Given the description of an element on the screen output the (x, y) to click on. 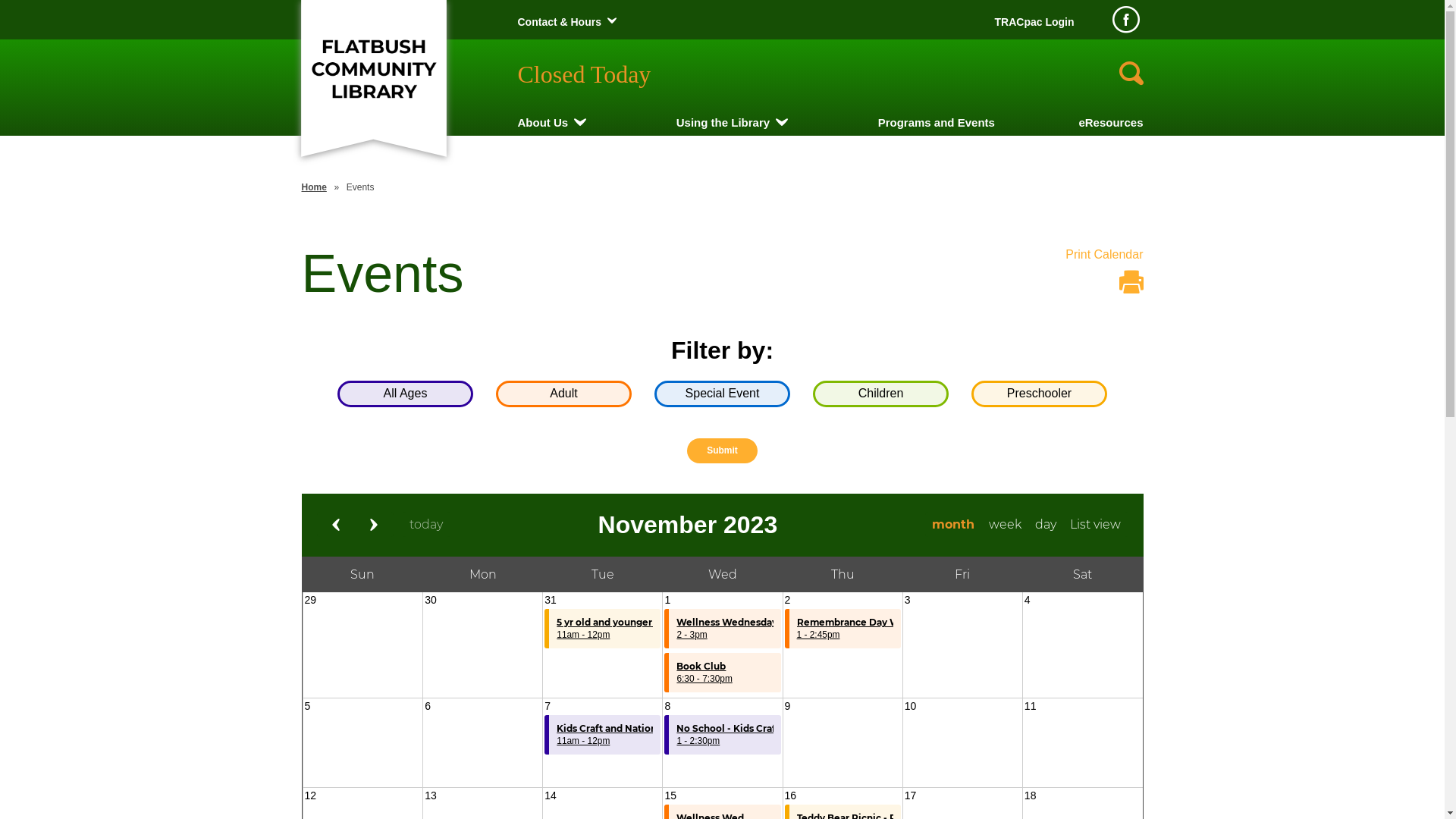
day Element type: text (1045, 524)
All Ages Element type: text (405, 393)
Facebook Element type: hover (1125, 19)
Kids Craft and National Hug A Bear Day
11am - 12pm Element type: text (602, 734)
Preschooler Element type: text (1039, 393)
today Element type: text (426, 524)
Flatbush Community Library Element type: hover (372, 69)
5 yr old and younger Storytime, play crafts
11am - 12pm Element type: text (602, 628)
eResources Element type: text (1110, 122)
Book Club
6:30 - 7:30pm Element type: text (722, 672)
Using the Library Element type: text (722, 122)
week Element type: text (1004, 524)
About Us Element type: text (542, 122)
Home Element type: text (313, 187)
Print Calendar Element type: text (1103, 273)
Wellness Wednesday Sit and Be Fit
2 - 3pm Element type: text (722, 628)
TRACpac Login Element type: text (1034, 21)
Programs and Events Element type: text (936, 122)
No School - Kids Craft Sea Glass
1 - 2:30pm Element type: text (722, 734)
Adult Element type: text (563, 393)
month Element type: text (953, 524)
List view Element type: text (1094, 524)
Submit Element type: text (722, 450)
Contact & Hours Element type: text (558, 21)
Children Element type: text (880, 393)
Special Event Element type: text (722, 393)
Remembrance Day Wreath Making
1 - 2:45pm Element type: text (842, 628)
